Given the description of an element on the screen output the (x, y) to click on. 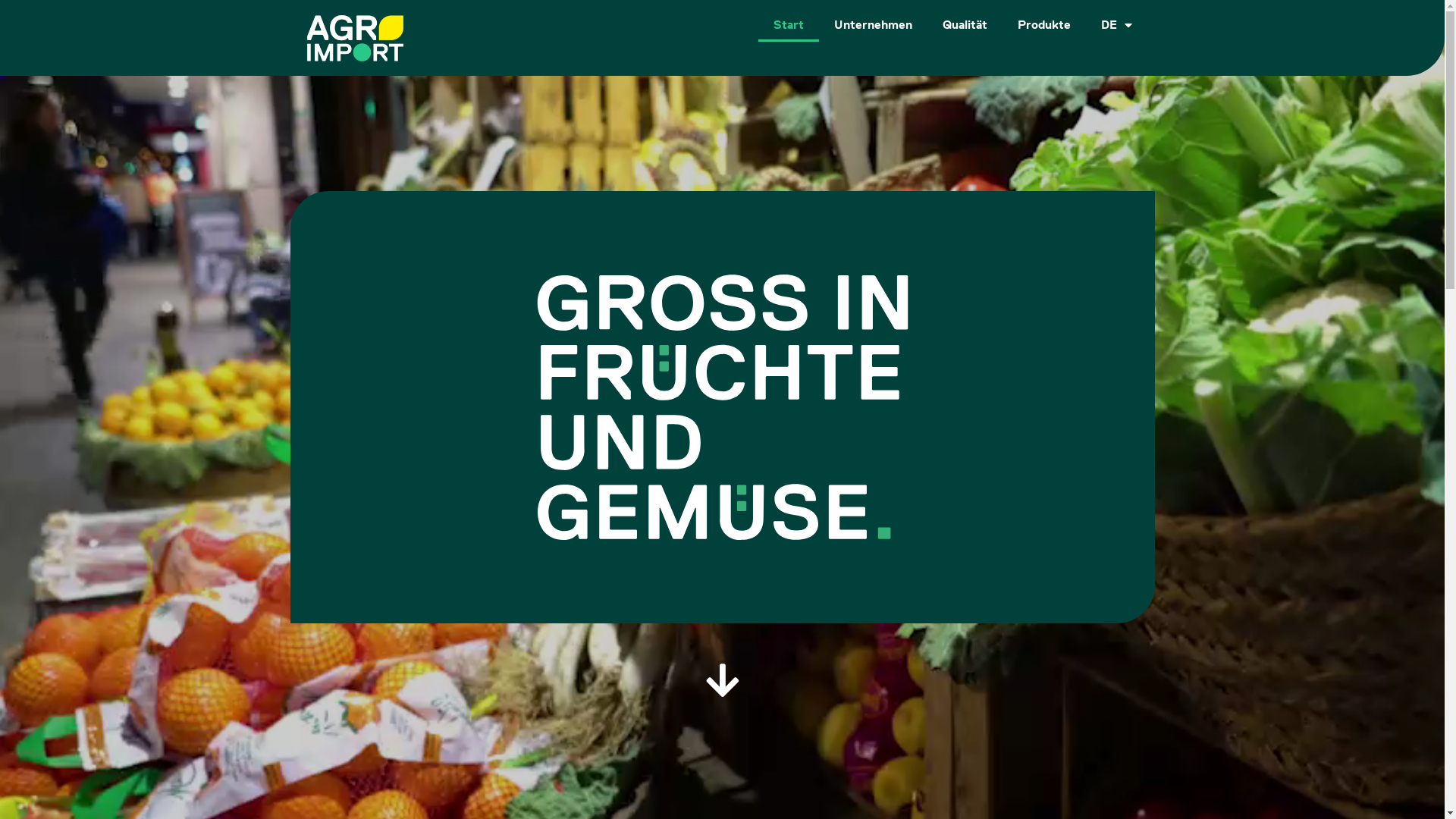
Produkte Element type: text (1043, 24)
Start Element type: text (788, 24)
Unternehmen Element type: text (873, 24)
DE Element type: text (1116, 24)
